Given the description of an element on the screen output the (x, y) to click on. 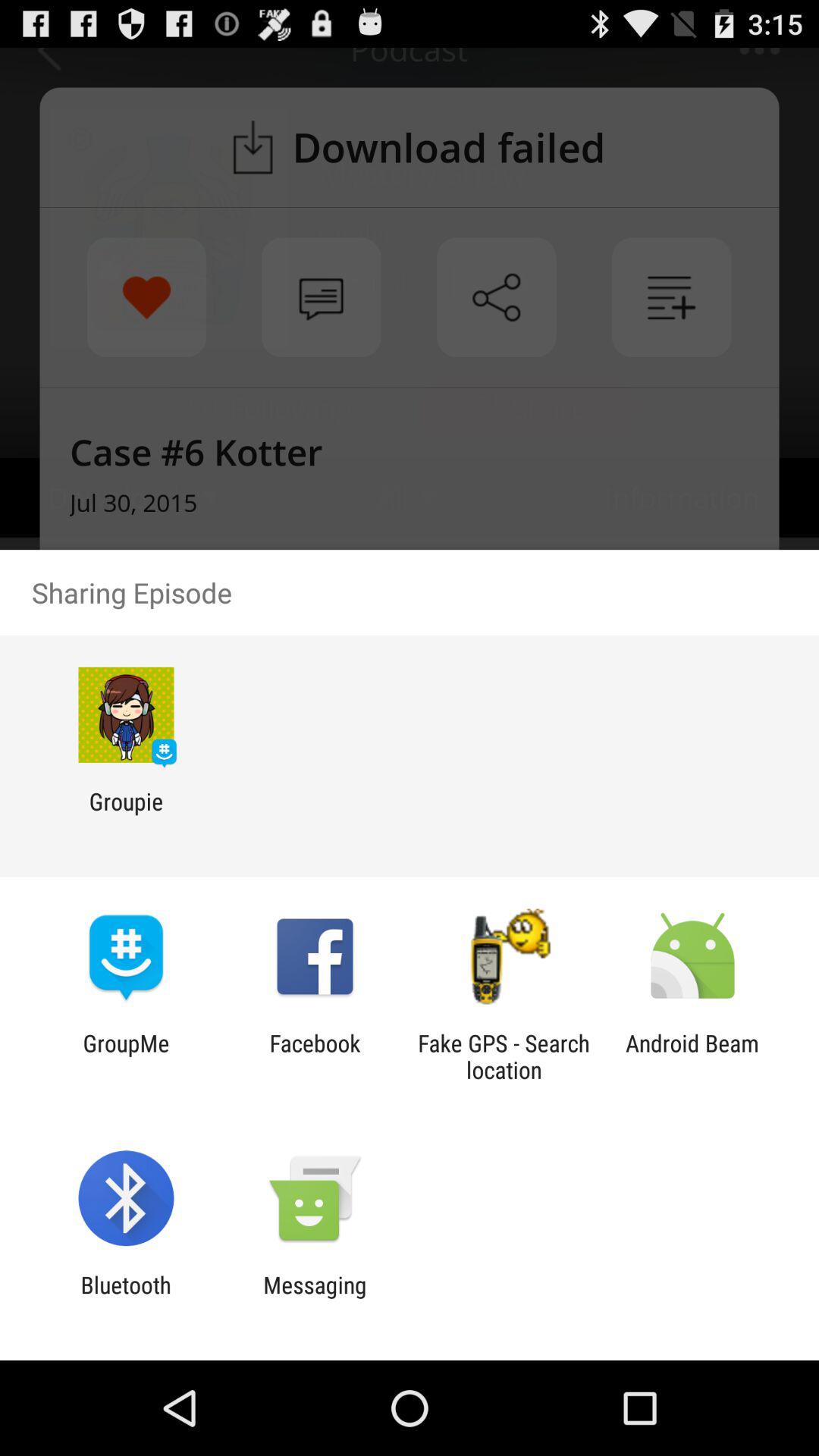
flip until the groupie item (126, 814)
